Given the description of an element on the screen output the (x, y) to click on. 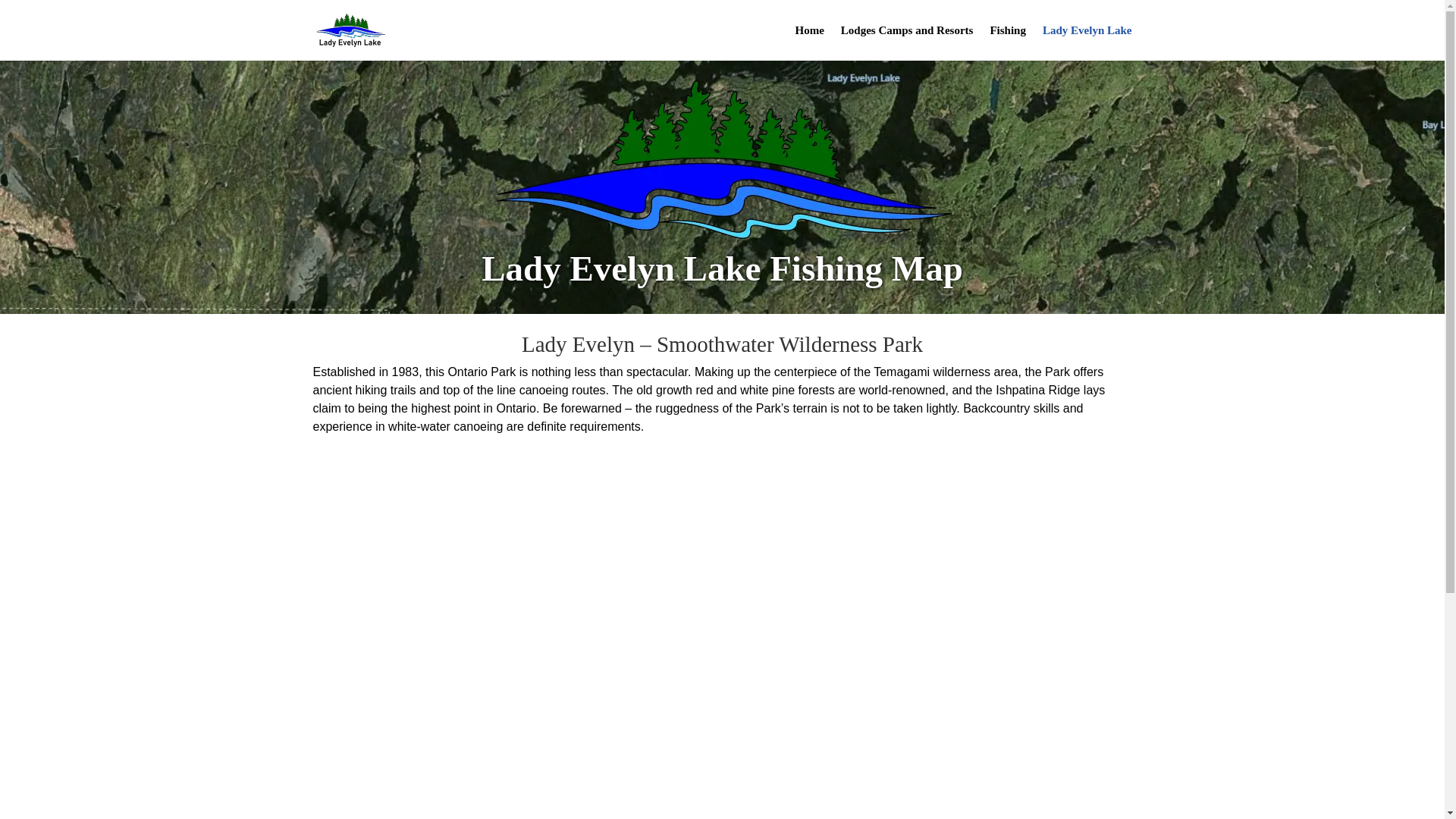
logo (721, 159)
Lady Evelyn Lake (1087, 42)
Fishing (1008, 42)
Lodges Camps and Resorts (907, 42)
